Given the description of an element on the screen output the (x, y) to click on. 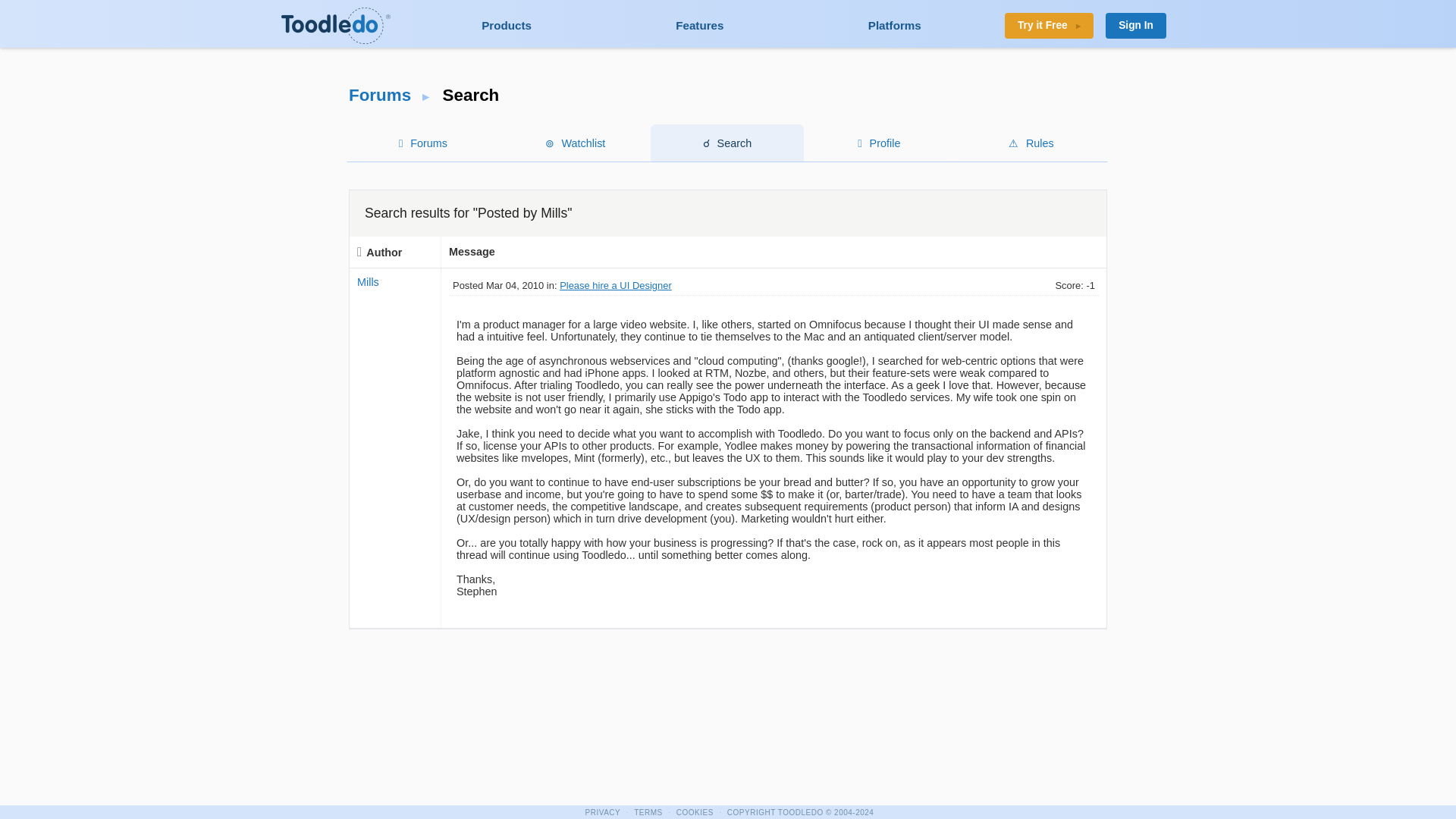
Mills (367, 282)
Forums (423, 142)
Products (506, 25)
6 (799, 812)
COOKIES (694, 812)
Rules (1030, 142)
Platforms (894, 25)
PRIVACY (603, 812)
Sign In (1135, 25)
Search (727, 142)
